Given the description of an element on the screen output the (x, y) to click on. 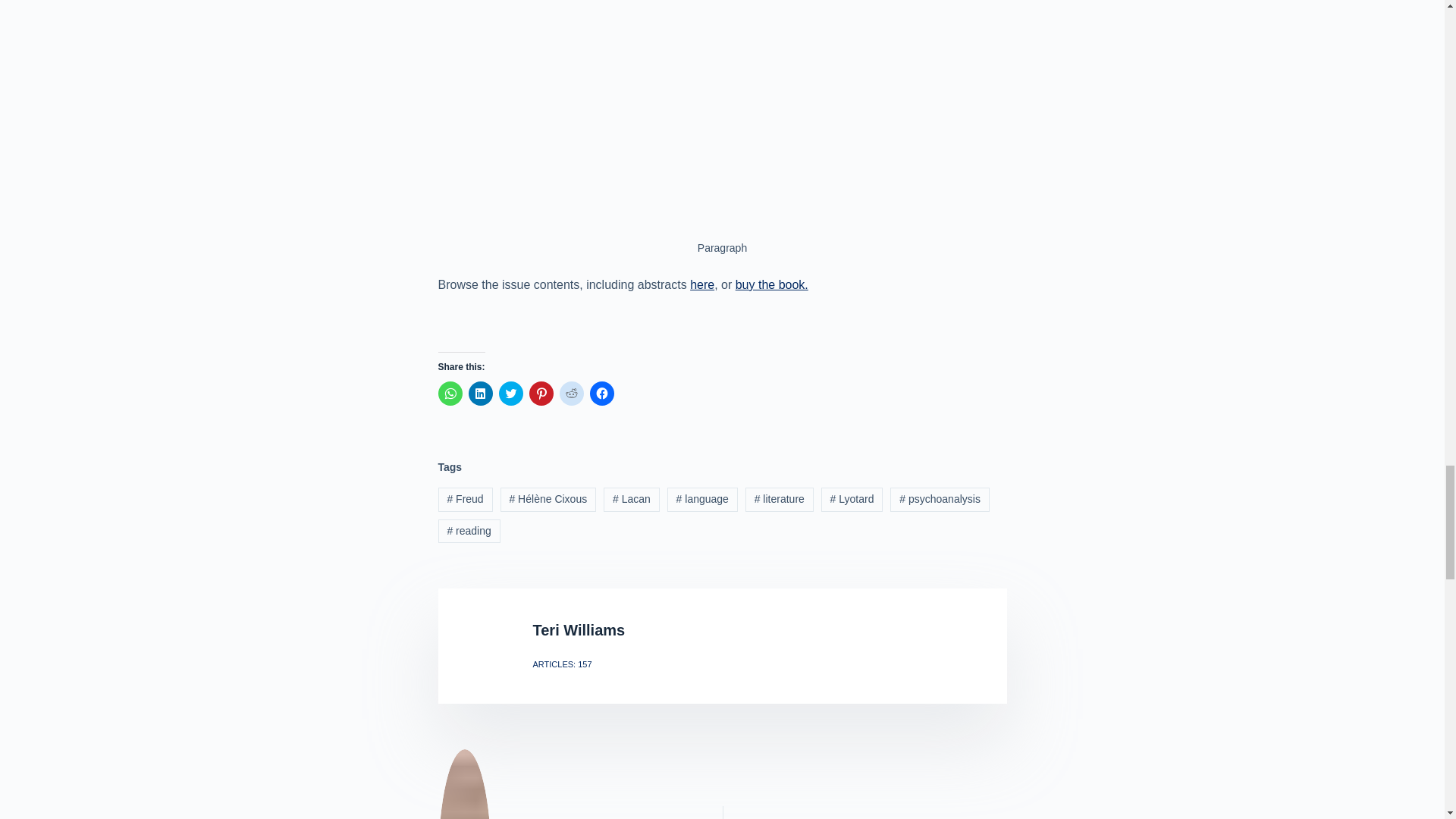
Click to share on Pinterest (541, 393)
Click to share on Twitter (510, 393)
Click to share on Facebook (601, 393)
Click to share on WhatsApp (450, 393)
Click to share on Reddit (571, 393)
Click to share on LinkedIn (480, 393)
